Given the description of an element on the screen output the (x, y) to click on. 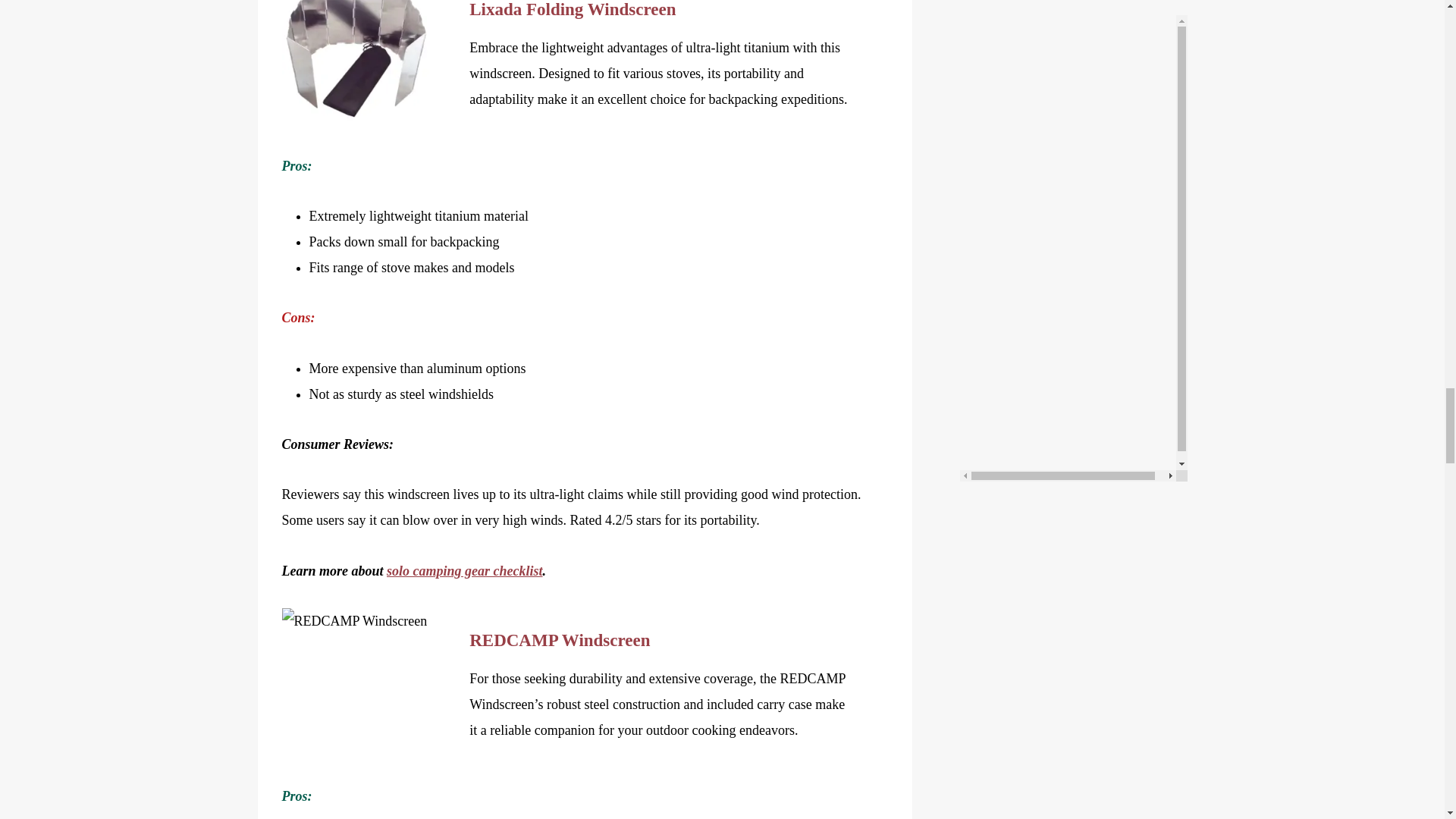
The Best Camping Stove Windshield For Windproof Cooking (357, 64)
The Best Camping Stove Windshield For Windproof Cooking (357, 684)
